Given the description of an element on the screen output the (x, y) to click on. 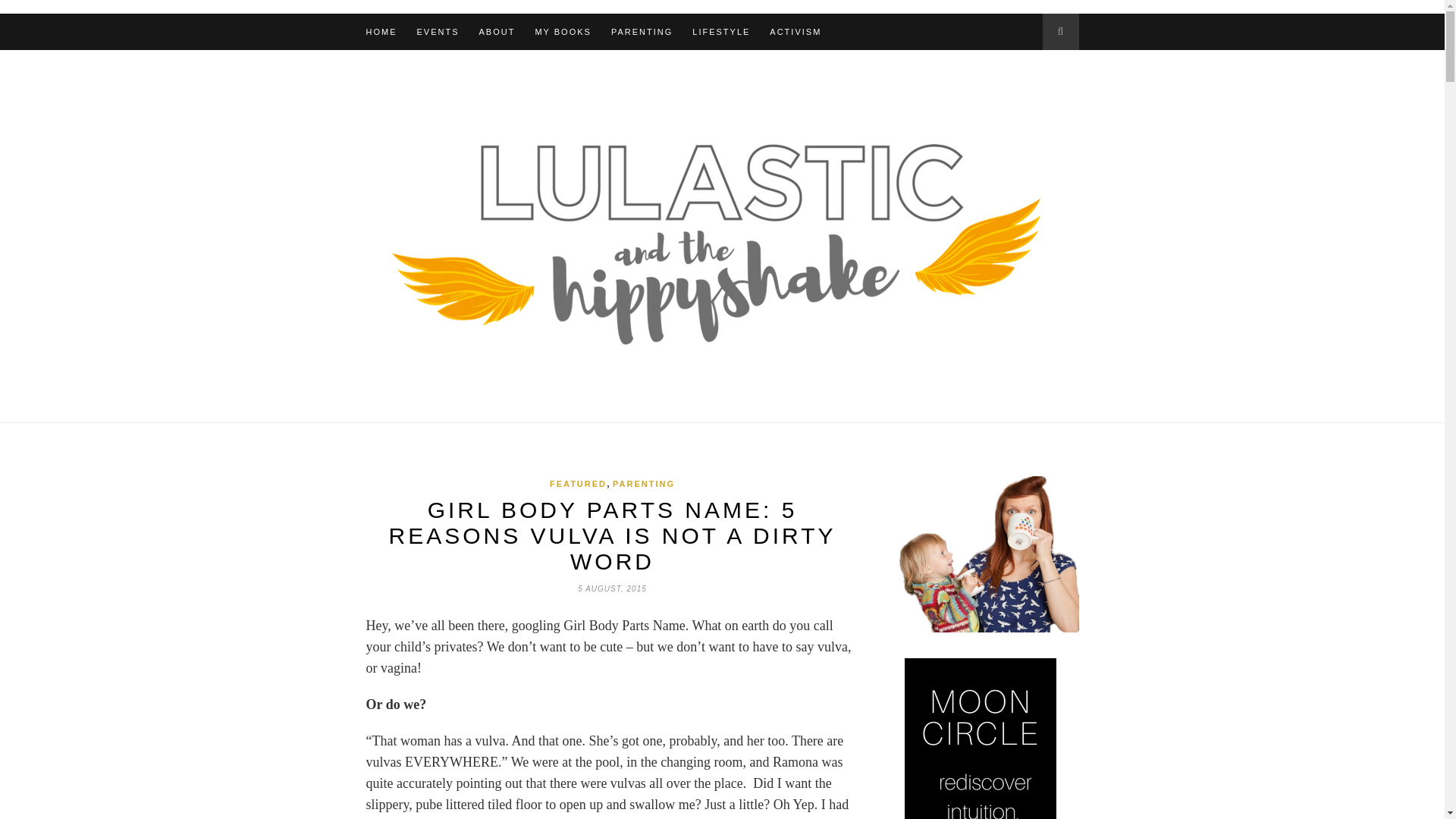
LIFESTYLE (721, 31)
EVENTS (438, 31)
ACTIVISM (795, 31)
PARENTING (641, 31)
View all posts in Featured (578, 483)
ABOUT (497, 31)
MY BOOKS (562, 31)
View all posts in Parenting (643, 483)
